Given the description of an element on the screen output the (x, y) to click on. 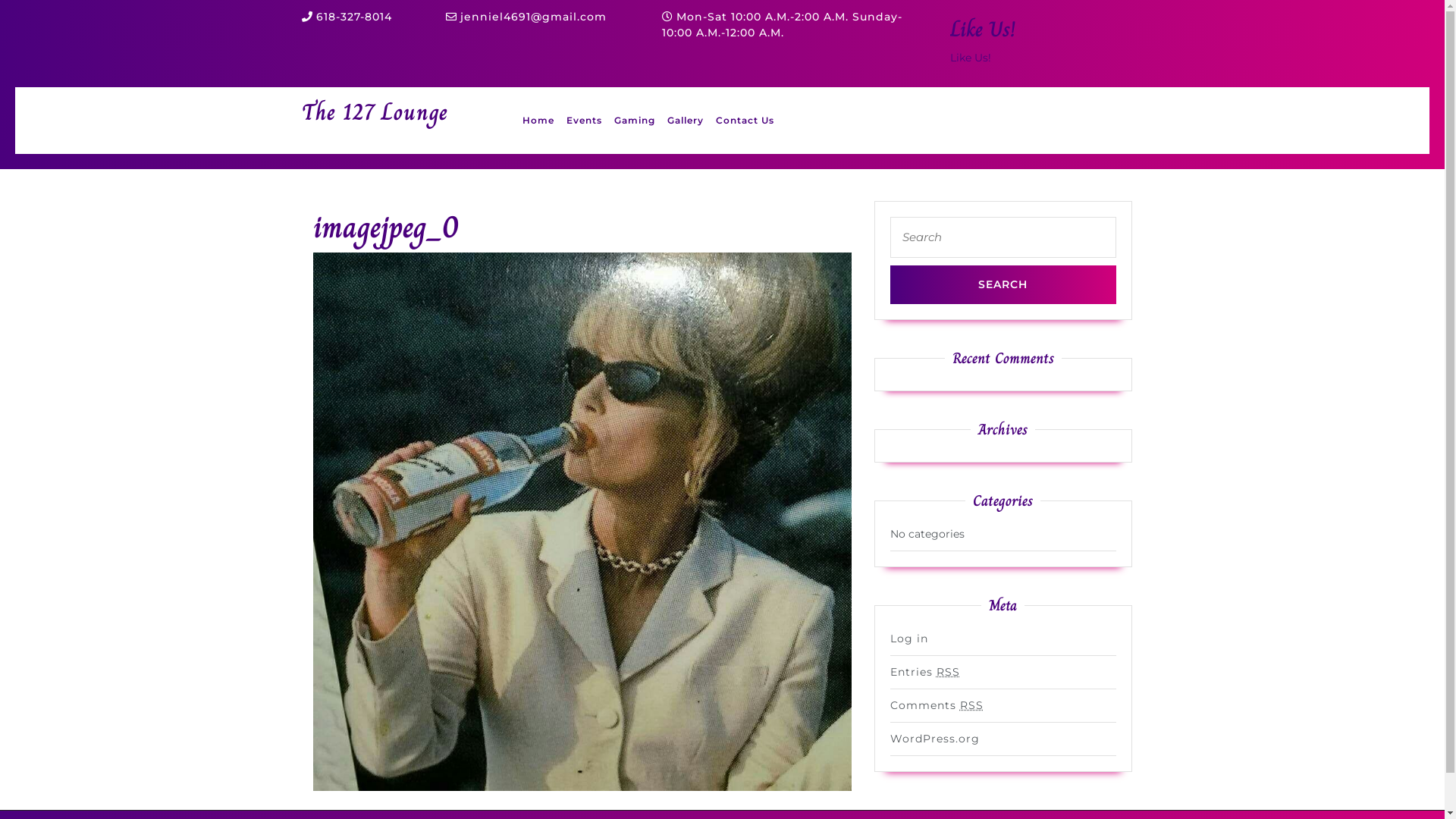
Gaming Element type: text (634, 120)
Like Us! Element type: text (969, 57)
WordPress.org Element type: text (934, 738)
Search Element type: text (1003, 284)
Like Us! Element type: text (981, 28)
Events Element type: text (583, 120)
Comments RSS Element type: text (936, 705)
The 127 Lounge Element type: text (374, 111)
Gallery Element type: text (685, 120)
Contact Us Element type: text (744, 120)
Entries RSS Element type: text (925, 671)
Log in Element type: text (909, 638)
Home Element type: text (537, 120)
